Given the description of an element on the screen output the (x, y) to click on. 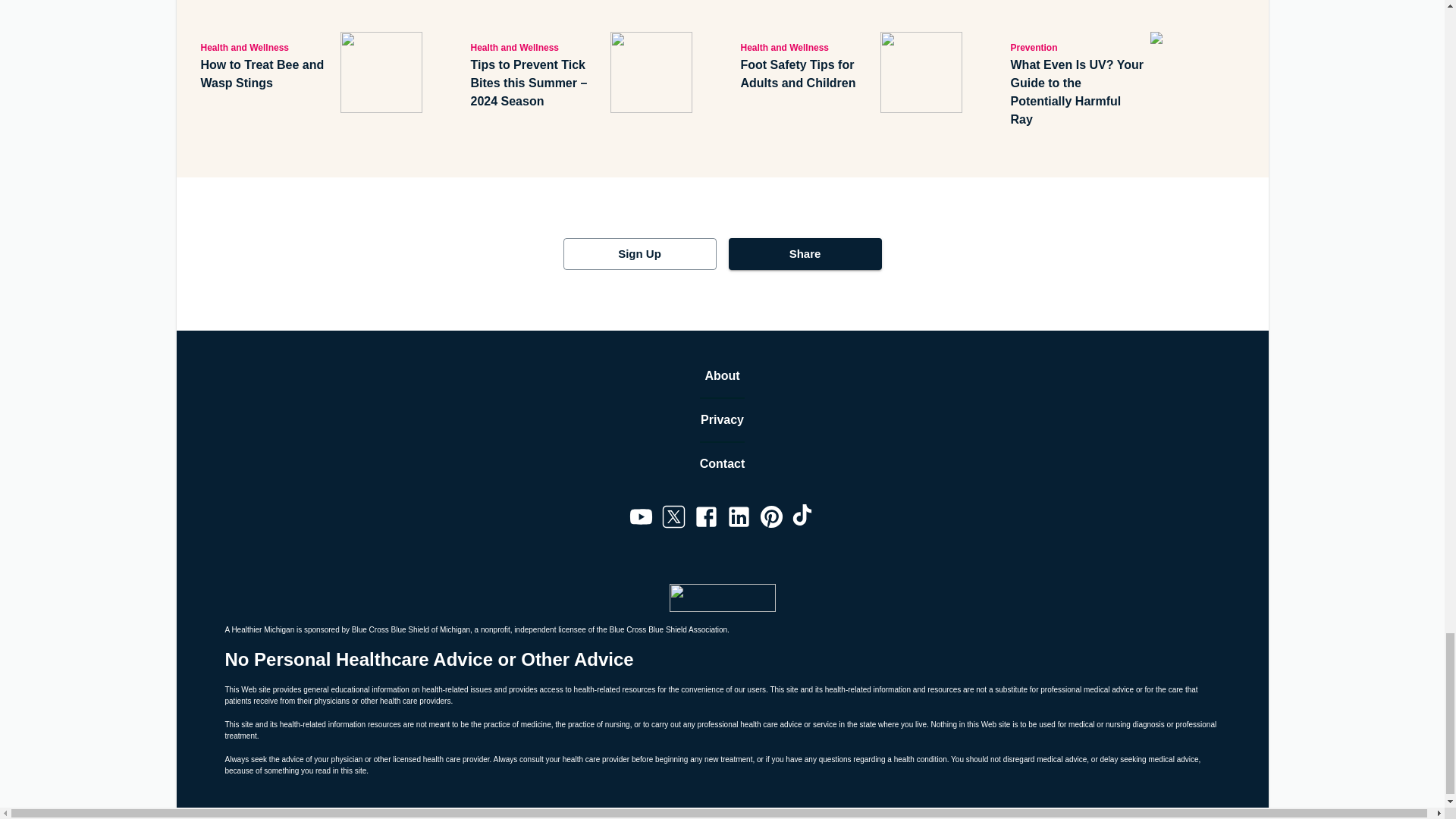
What Even Is UV? Your Guide to the Potentially Harmful Ray (1077, 92)
Share (804, 254)
Health and Wellness (807, 46)
Contact (722, 464)
About (721, 375)
Health and Wellness (537, 46)
How to Treat Bee and Wasp Stings (267, 74)
Sign Up (639, 254)
Health and Wellness (267, 46)
Foot Safety Tips for Adults and Children (807, 74)
Prevention (1077, 46)
Privacy (722, 420)
